Given the description of an element on the screen output the (x, y) to click on. 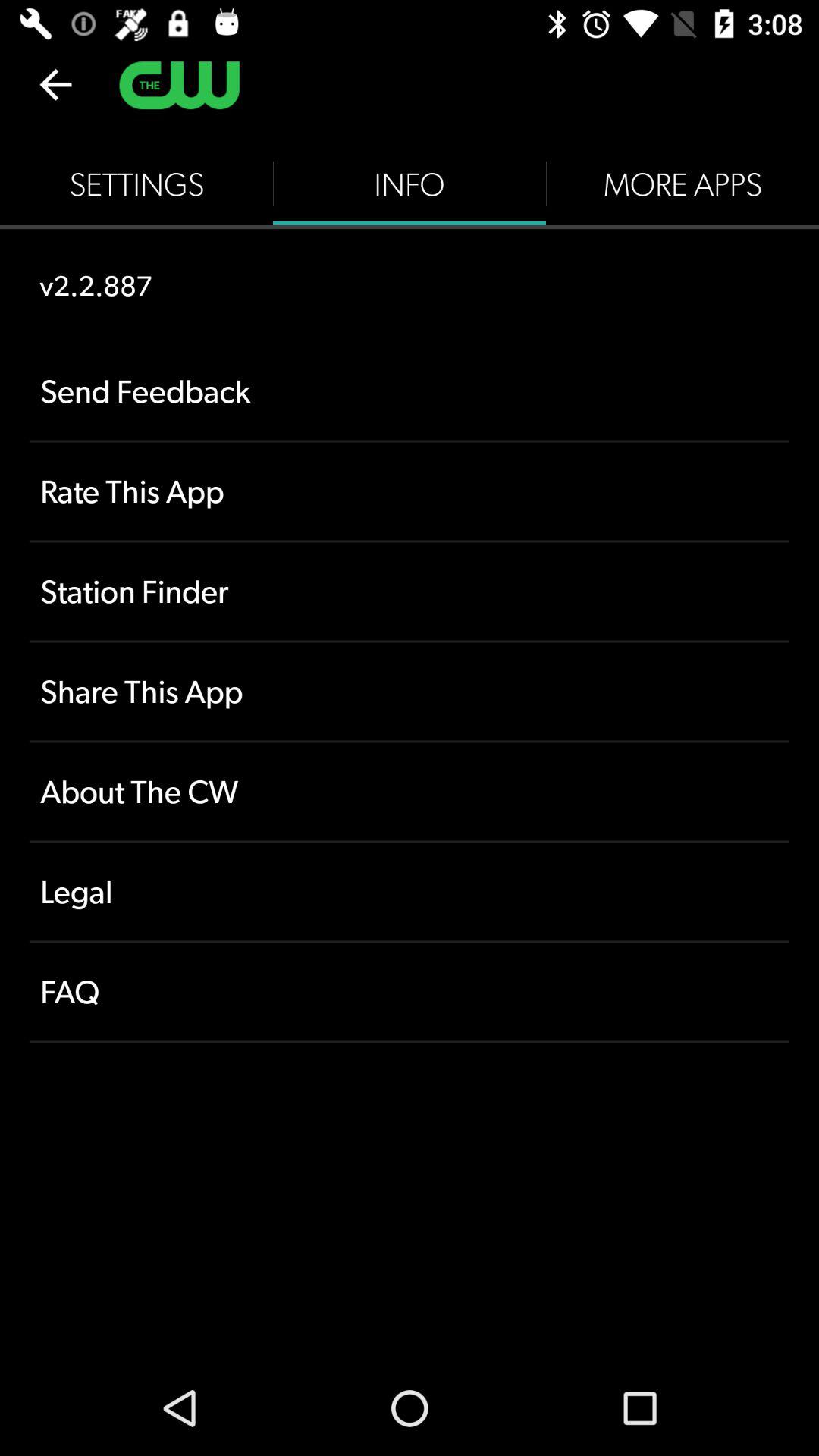
open the item above the send feedback icon (409, 184)
